Given the description of an element on the screen output the (x, y) to click on. 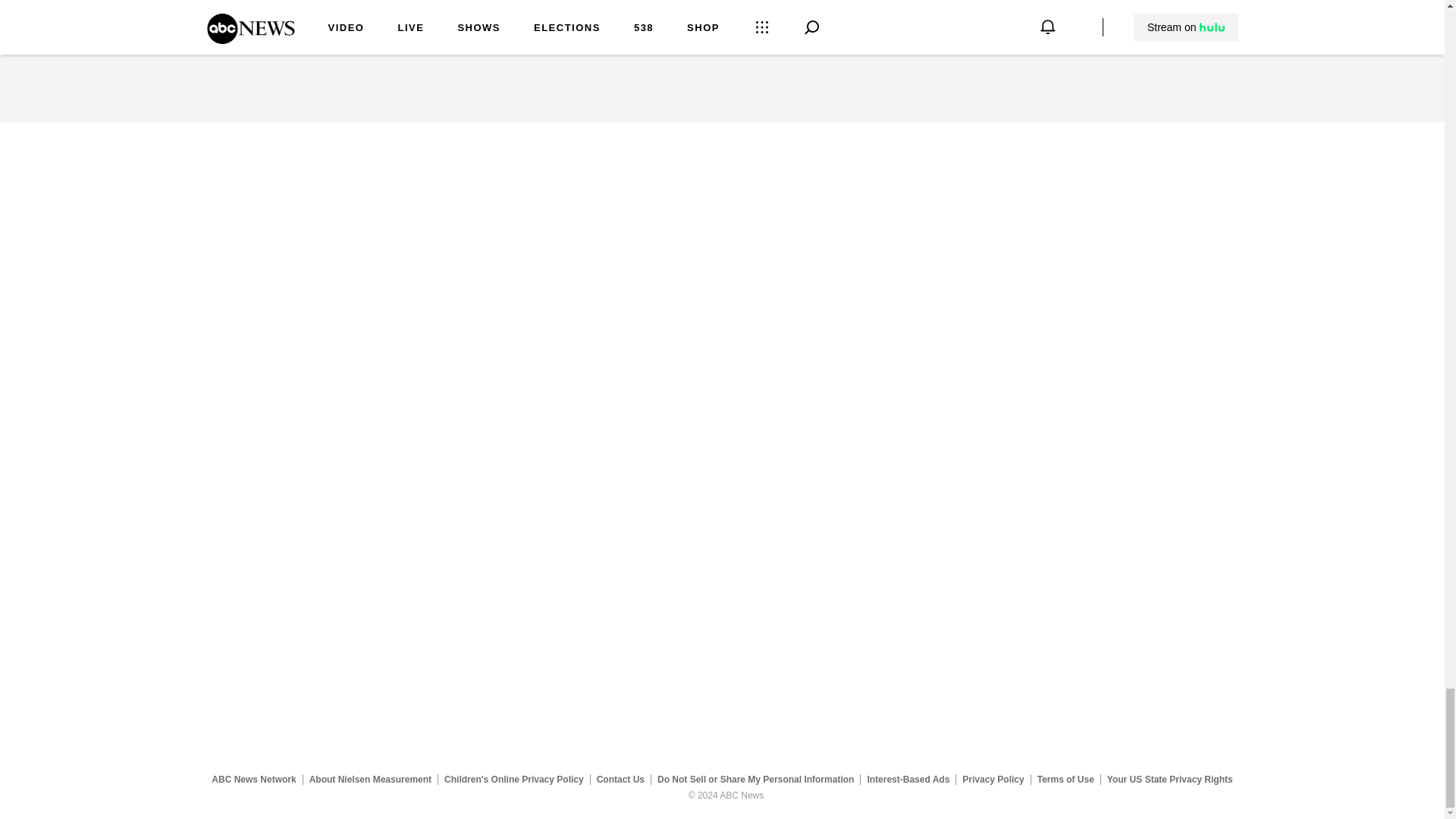
Contact Us (620, 778)
Interest-Based Ads (908, 778)
Do Not Sell or Share My Personal Information (755, 778)
Children's Online Privacy Policy (514, 778)
Privacy Policy (993, 778)
Your US State Privacy Rights (1169, 778)
About Nielsen Measurement (370, 778)
ABC News Network (253, 778)
Terms of Use (1065, 778)
